Given the description of an element on the screen output the (x, y) to click on. 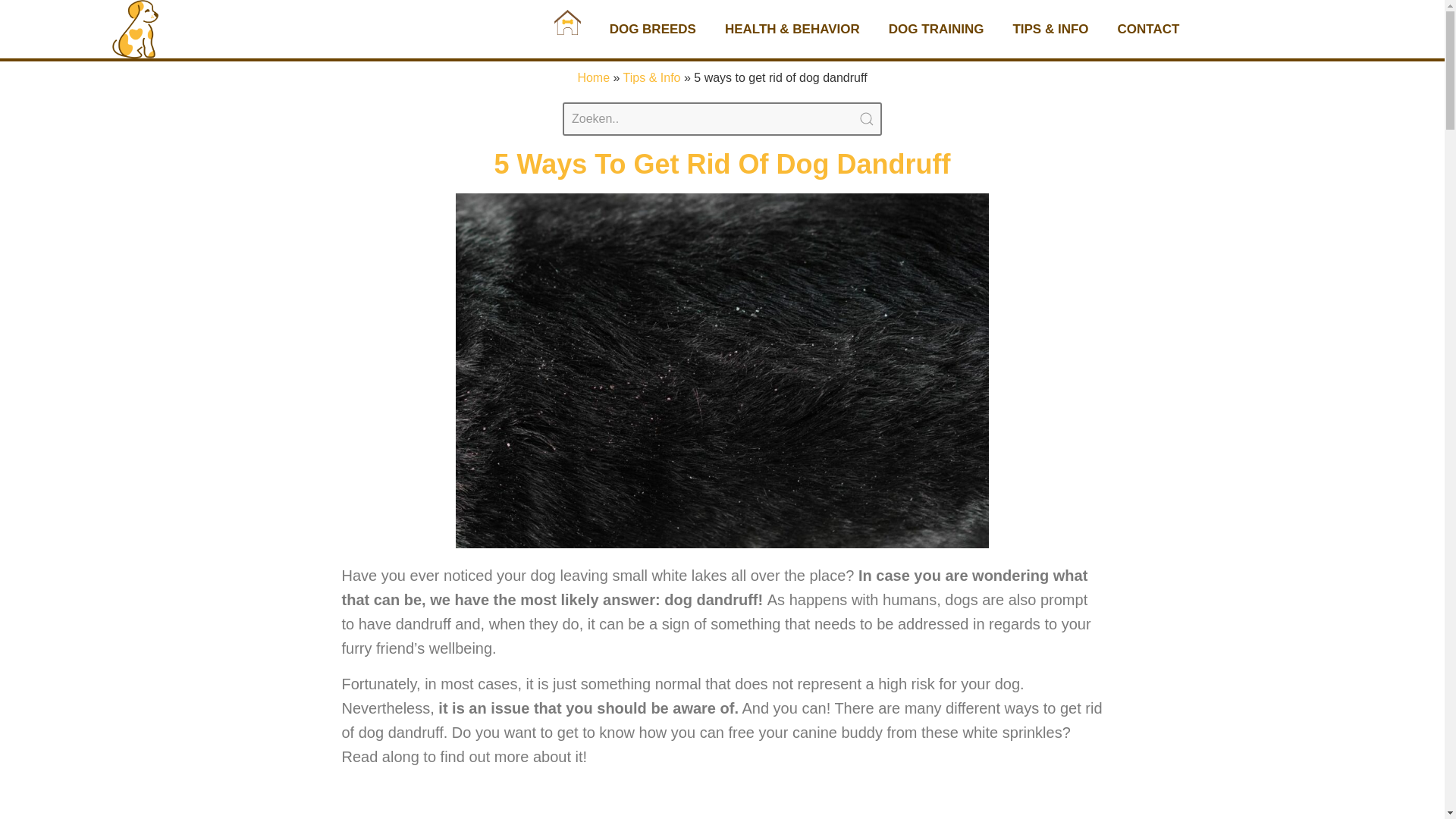
DOG TRAINING (936, 28)
Search (722, 118)
DOG BREEDS (652, 28)
CONTACT (1148, 28)
Home (593, 77)
